Given the description of an element on the screen output the (x, y) to click on. 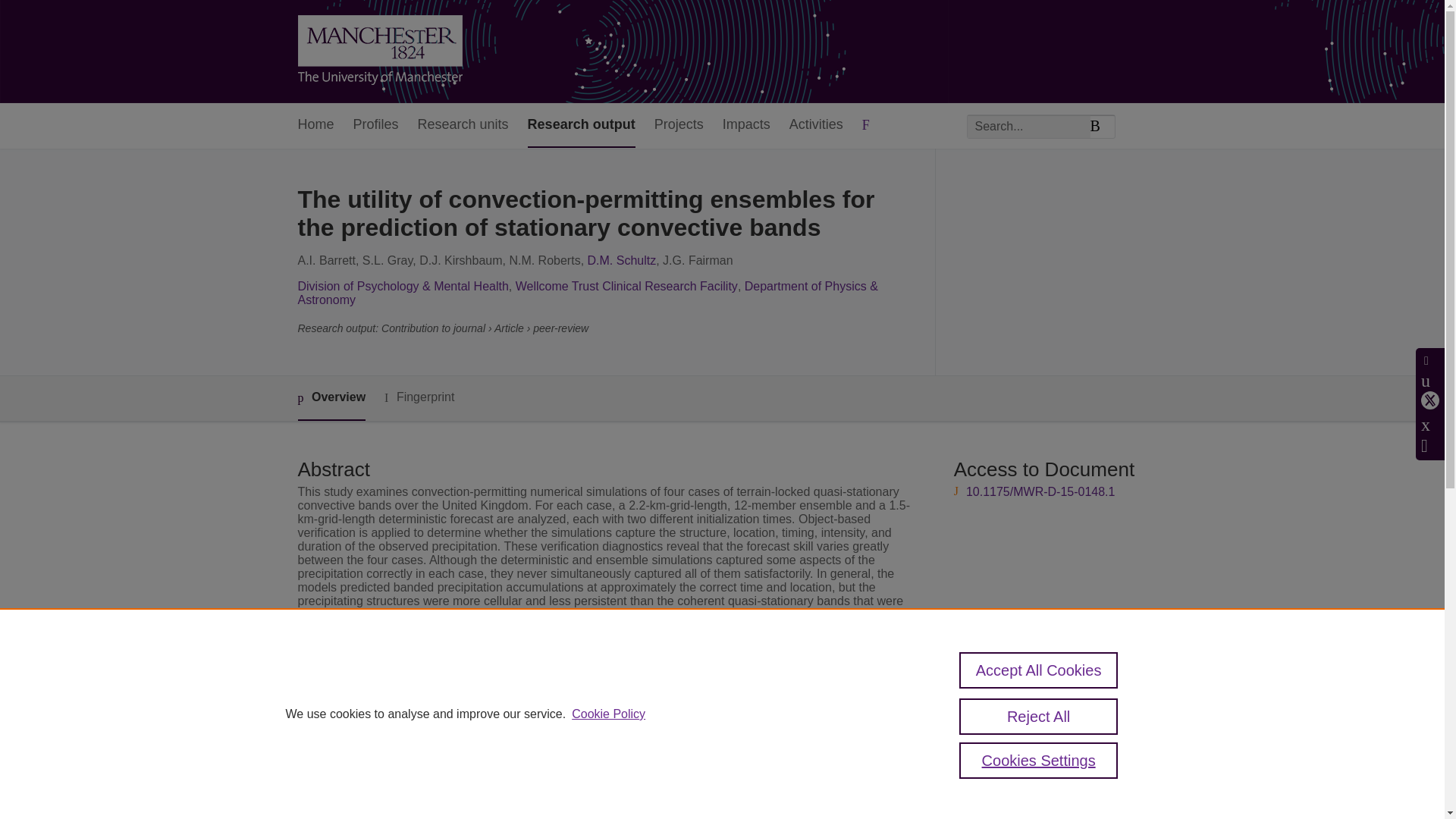
Impacts (746, 125)
D.M. Schultz (622, 259)
Research units (462, 125)
Fingerprint (419, 397)
Overview (331, 397)
Profiles (375, 125)
Projects (678, 125)
Monthly Weather Review (576, 725)
Research output (580, 125)
Wellcome Trust Clinical Research Facility (626, 286)
Activities (816, 125)
Research Explorer The University of Manchester Home (379, 51)
